Given the description of an element on the screen output the (x, y) to click on. 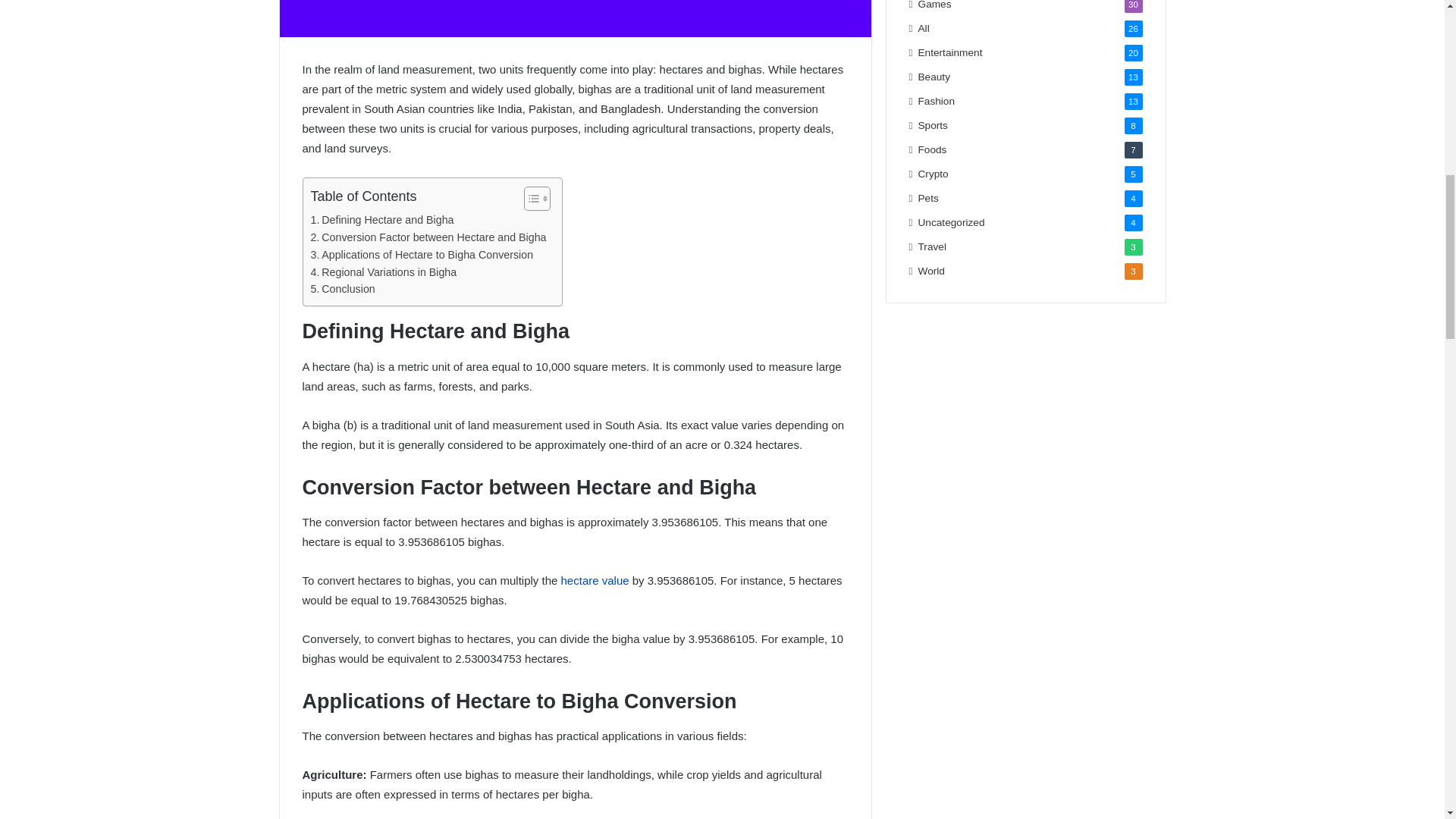
Applications of Hectare to Bigha Conversion (422, 254)
Defining Hectare and Bigha (382, 220)
Applications of Hectare to Bigha Conversion (422, 254)
Conclusion (343, 289)
Conclusion (343, 289)
Regional Variations in Bigha (384, 272)
hectare value (594, 580)
Conversion Factor between Hectare and Bigha (429, 237)
Regional Variations in Bigha (384, 272)
Conversion Factor between Hectare and Bigha (429, 237)
Defining Hectare and Bigha (382, 220)
